Given the description of an element on the screen output the (x, y) to click on. 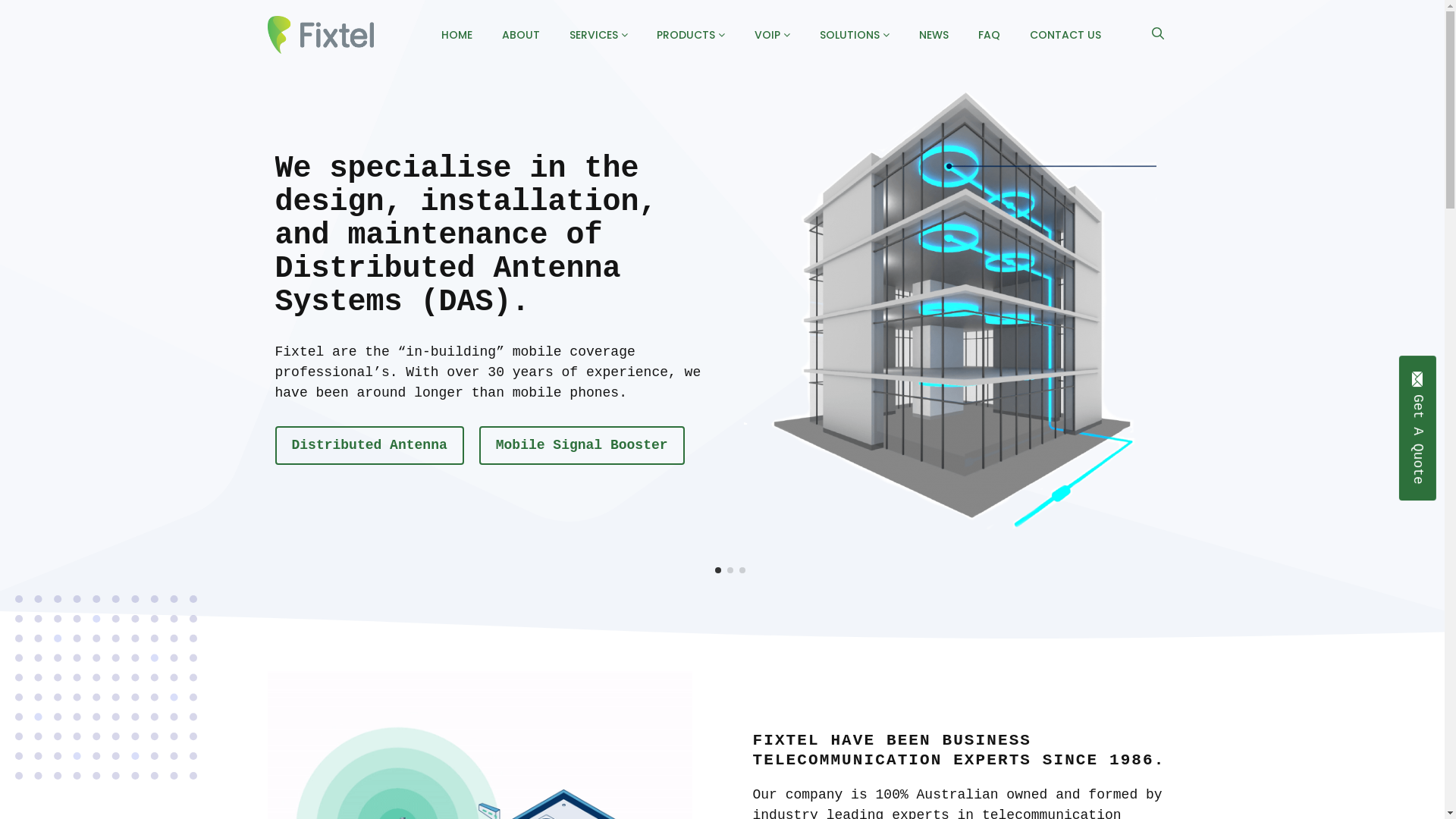
SOLUTIONS Element type: text (854, 34)
HOME Element type: text (456, 34)
ABOUT Element type: text (520, 34)
VOIP Element type: text (771, 34)
CONTACT US Element type: text (1065, 34)
Mobile Signal Booster Element type: text (1039, 445)
FAQ Element type: text (988, 34)
SERVICES Element type: text (598, 34)
NEWS Element type: text (933, 34)
Distributed Antenna Element type: text (865, 445)
Skip to content Element type: text (13, 13)
PRODUCTS Element type: text (690, 34)
